Given the description of an element on the screen output the (x, y) to click on. 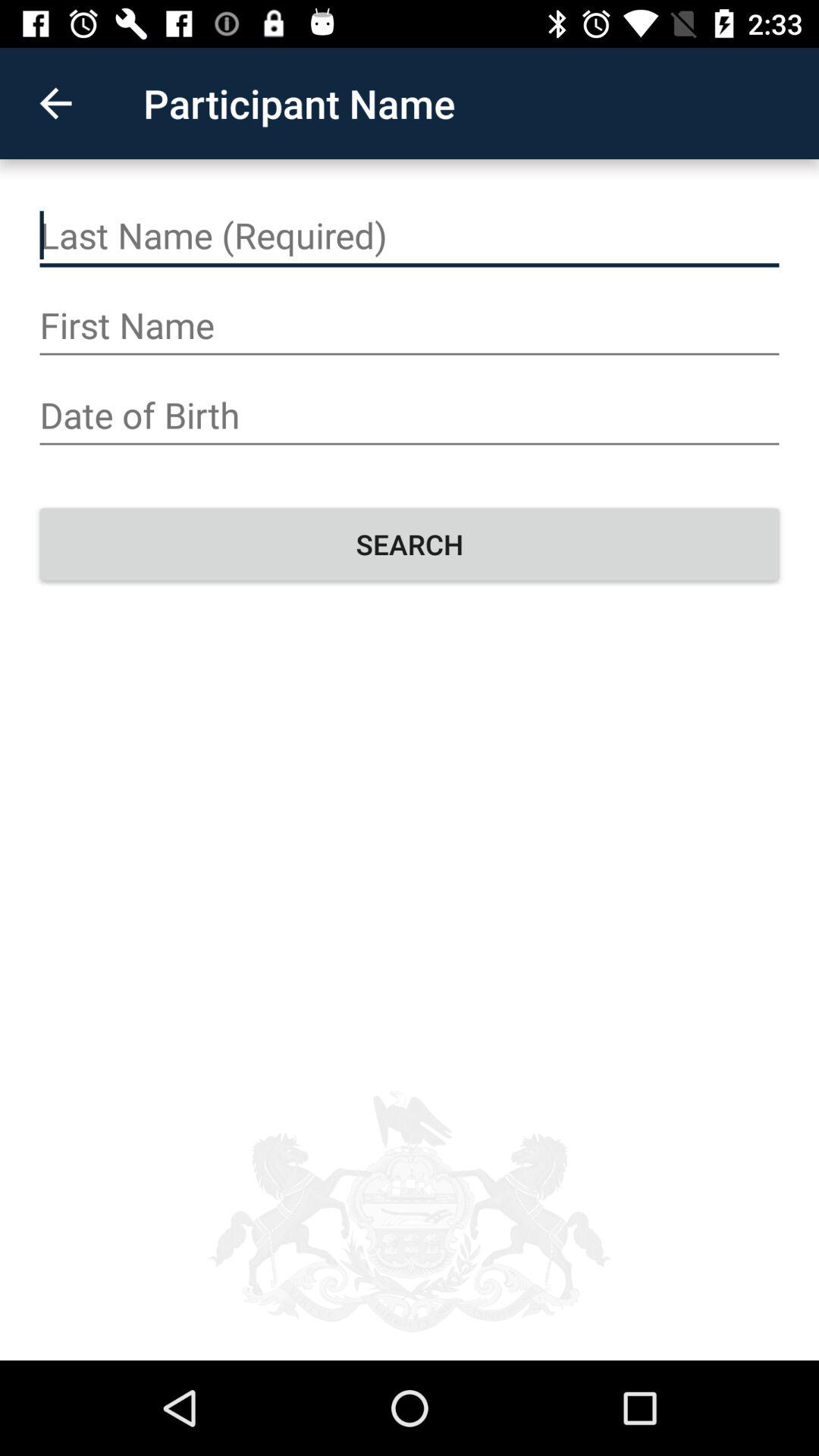
insert date of birth (409, 415)
